Given the description of an element on the screen output the (x, y) to click on. 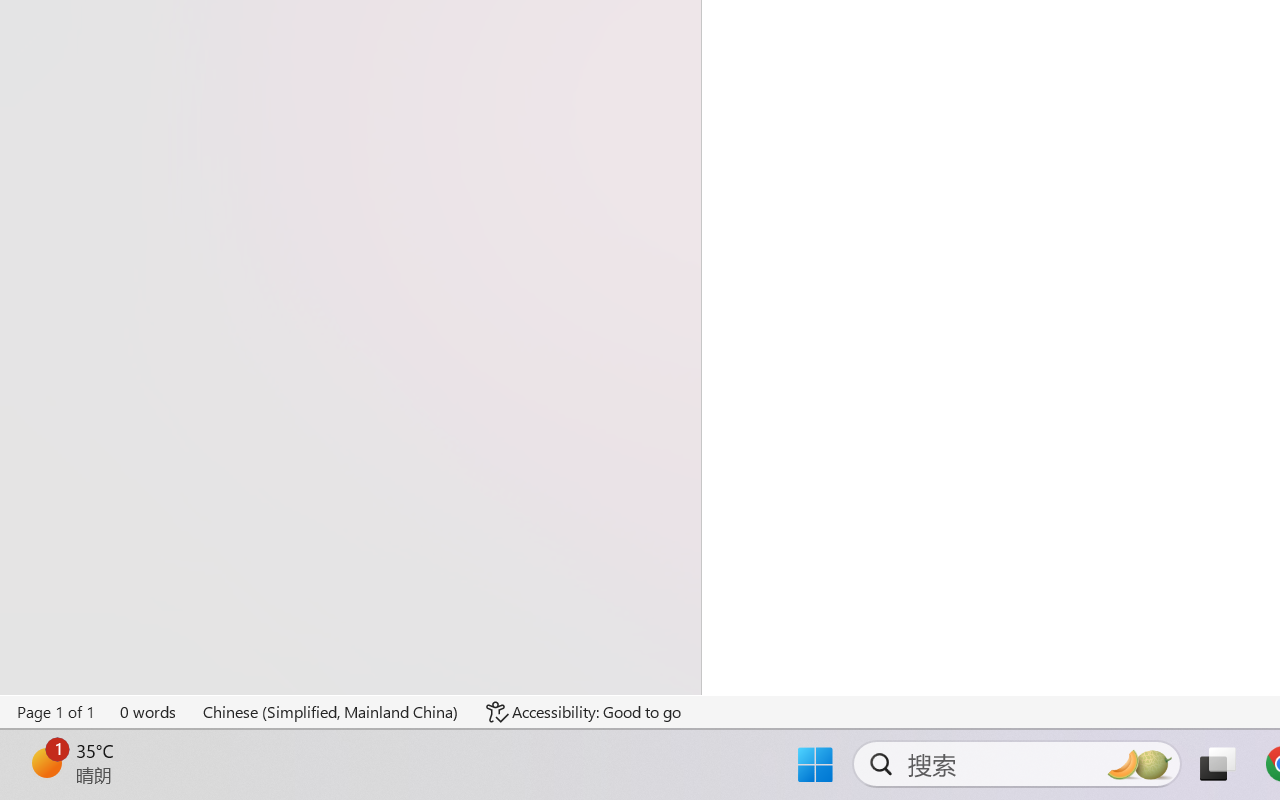
Language Chinese (Simplified, Mainland China) (331, 712)
